Given the description of an element on the screen output the (x, y) to click on. 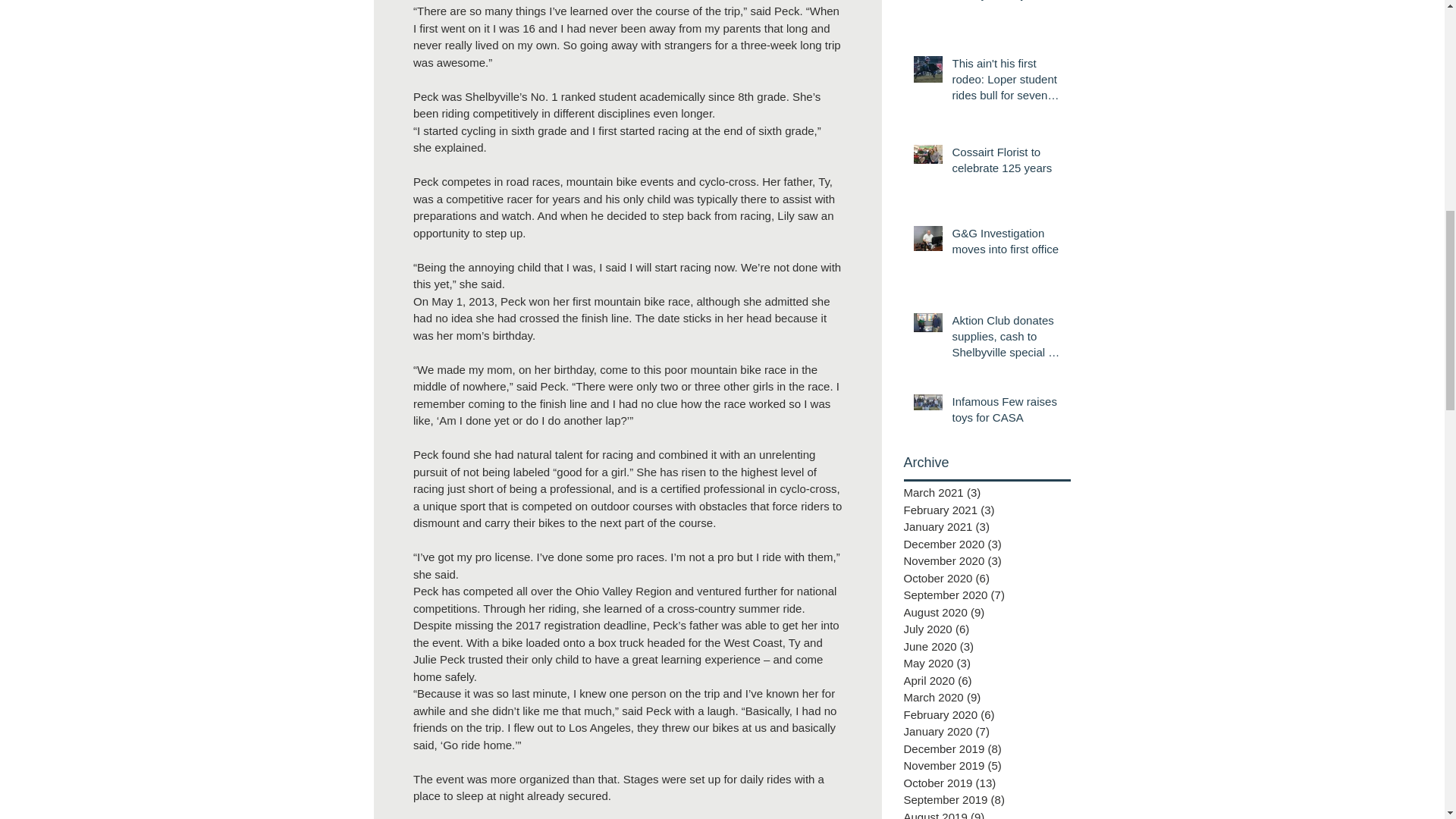
Infamous Few raises toys for CASA (1006, 412)
Cossairt Florist to celebrate 125 years (1006, 162)
